Given the description of an element on the screen output the (x, y) to click on. 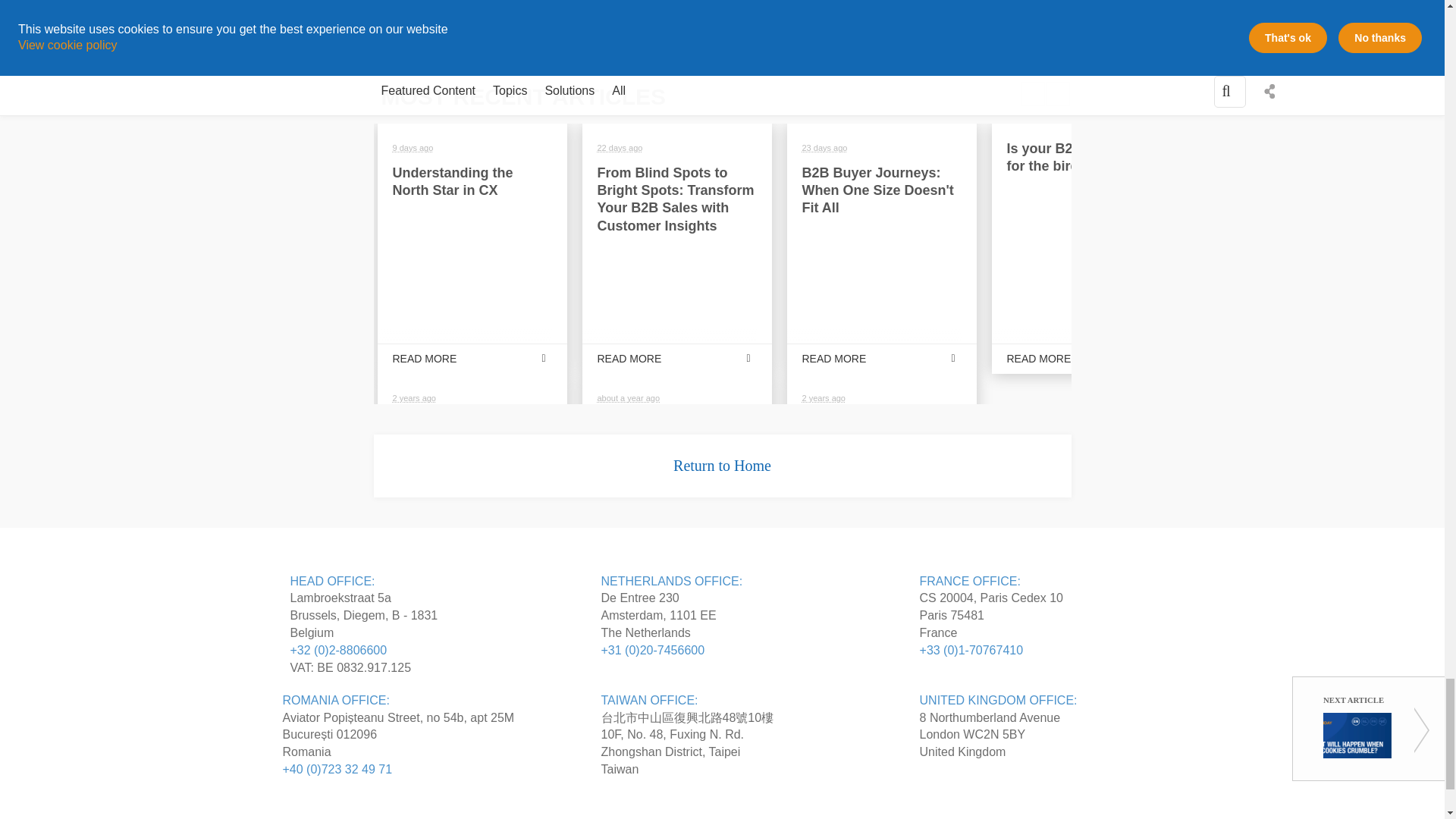
2023-03-30T05:03:25 (628, 397)
2024-07-03T11:14:30 (824, 147)
2022-11-22T10:23:55 (414, 397)
2022-10-20T09:06:47 (823, 397)
2024-07-04T05:27:44 (619, 147)
2024-07-17T08:40:59 (413, 147)
